Given the description of an element on the screen output the (x, y) to click on. 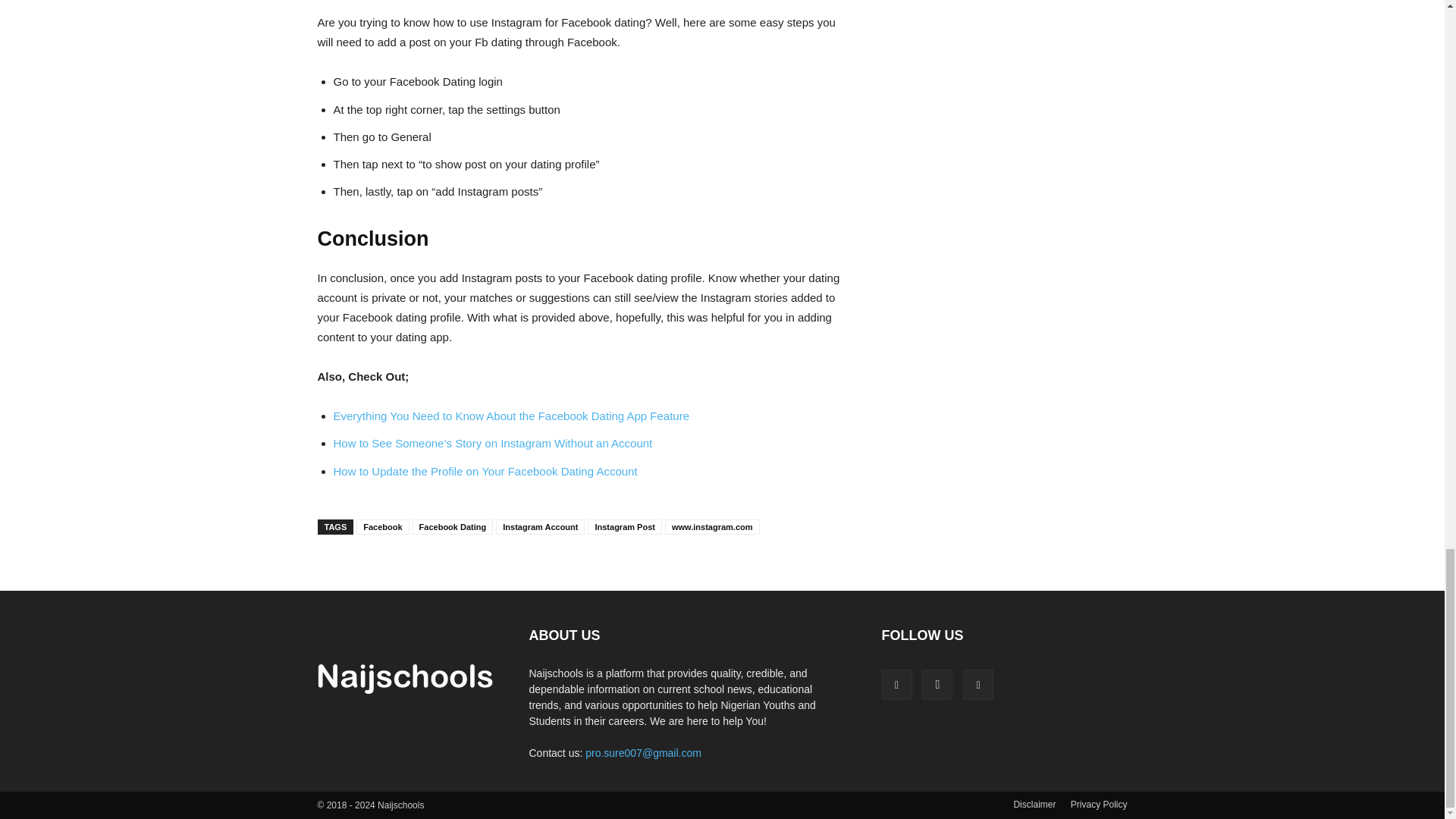
Instagram (936, 684)
Facebook (895, 684)
Twitter (977, 684)
